Given the description of an element on the screen output the (x, y) to click on. 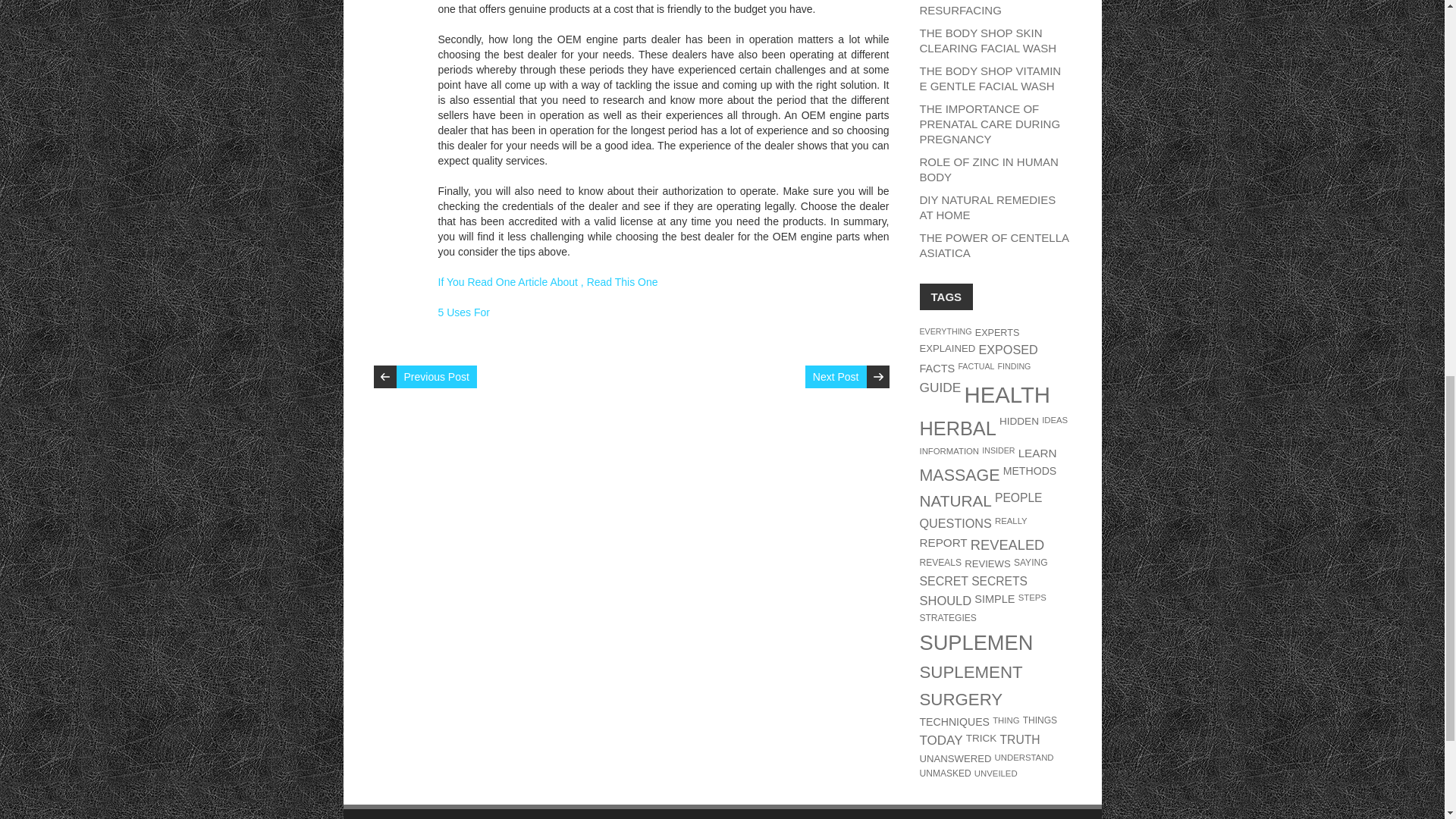
THE BODY SHOP SKIN CLEARING FACIAL WASH (987, 40)
5 Uses For (463, 312)
EVERYTHING (944, 330)
EXPLAINED (946, 348)
ROLE OF ZINC IN HUMAN BODY (988, 169)
EXPERTS (997, 332)
Next Post (835, 376)
THE IMPORTANCE OF PRENATAL CARE DURING PREGNANCY (988, 123)
Previous Post (436, 376)
DIY NATURAL REMEDIES AT HOME (986, 207)
If You Read One Article About , Read This One (548, 282)
THE POWER OF CENTELLA ASIATICA (993, 244)
UNDERSTANDING SKIN RESURFACING (982, 8)
THE BODY SHOP VITAMIN E GENTLE FACIAL WASH (989, 78)
